Given the description of an element on the screen output the (x, y) to click on. 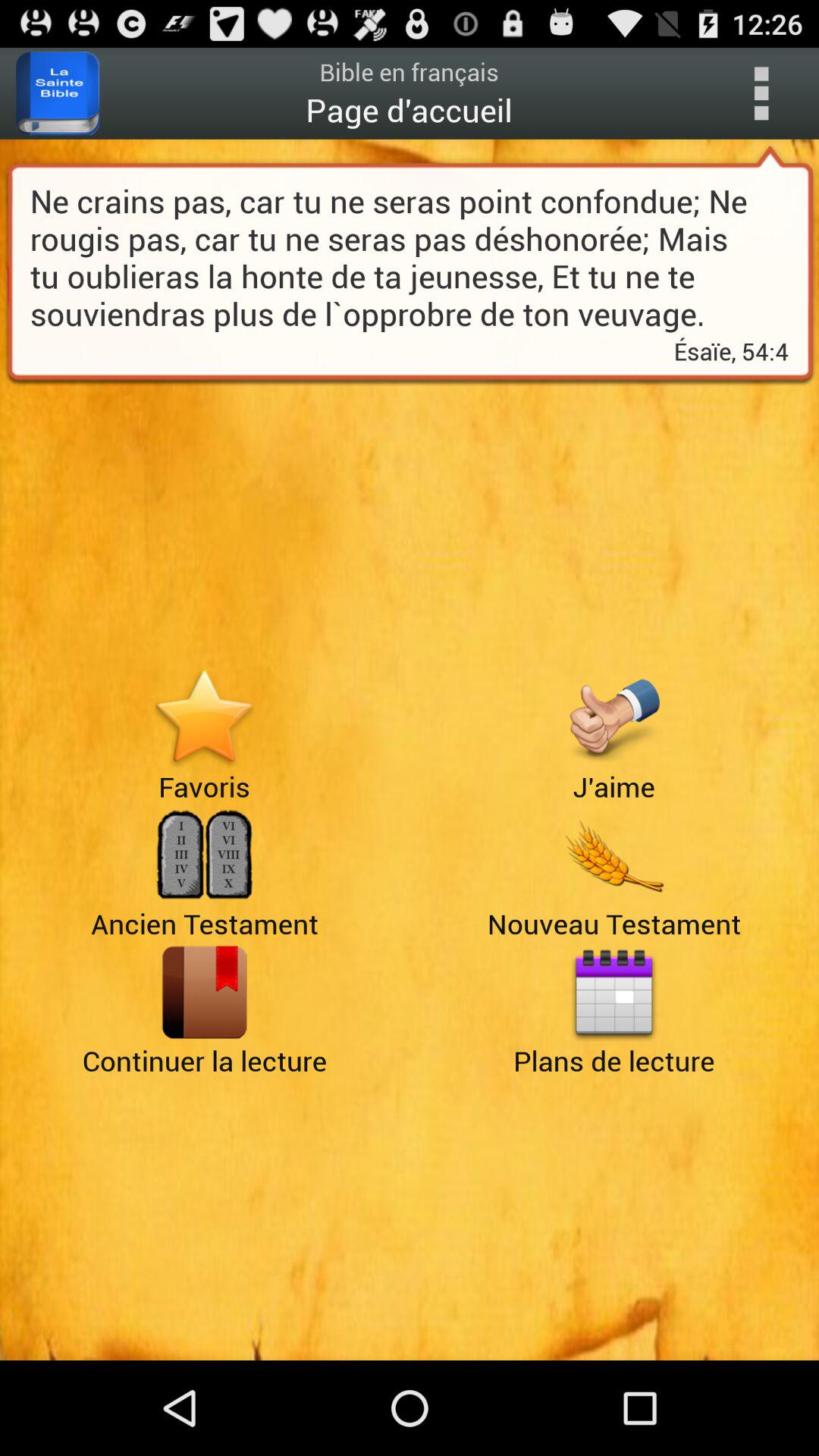
next page (204, 991)
